Given the description of an element on the screen output the (x, y) to click on. 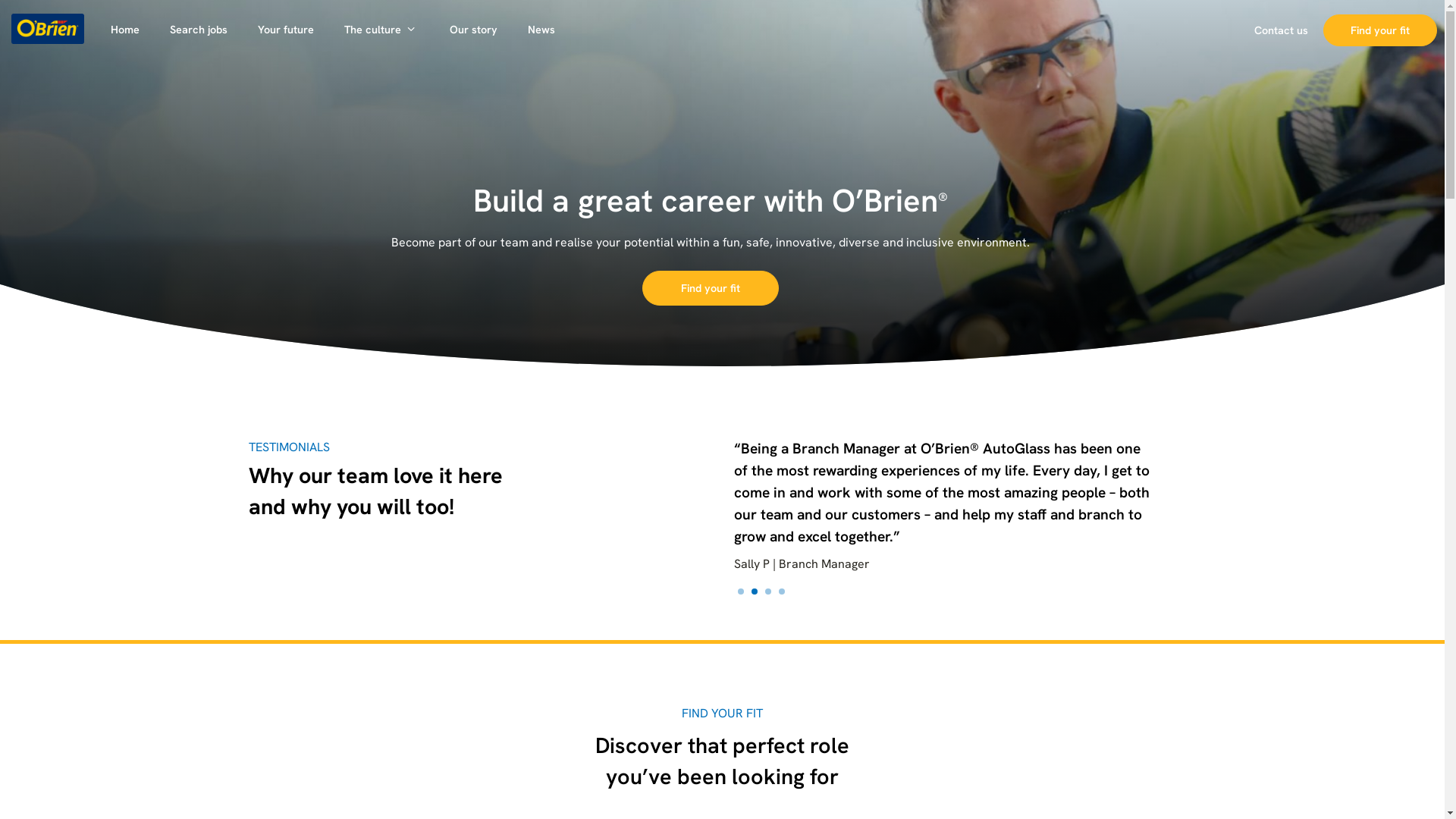
Your future Element type: text (285, 30)
Our story Element type: text (473, 30)
4 Element type: text (781, 591)
News Element type: text (541, 30)
Contact us Element type: text (1281, 29)
Find your fit Element type: text (1380, 30)
Search jobs Element type: text (198, 30)
Home Element type: text (124, 30)
1 Element type: text (740, 591)
Next Element type: text (1176, 516)
The culture Element type: text (381, 30)
Find your fit Element type: text (710, 288)
2 Element type: text (753, 591)
Prev Element type: text (753, 516)
3 Element type: text (767, 591)
